Given the description of an element on the screen output the (x, y) to click on. 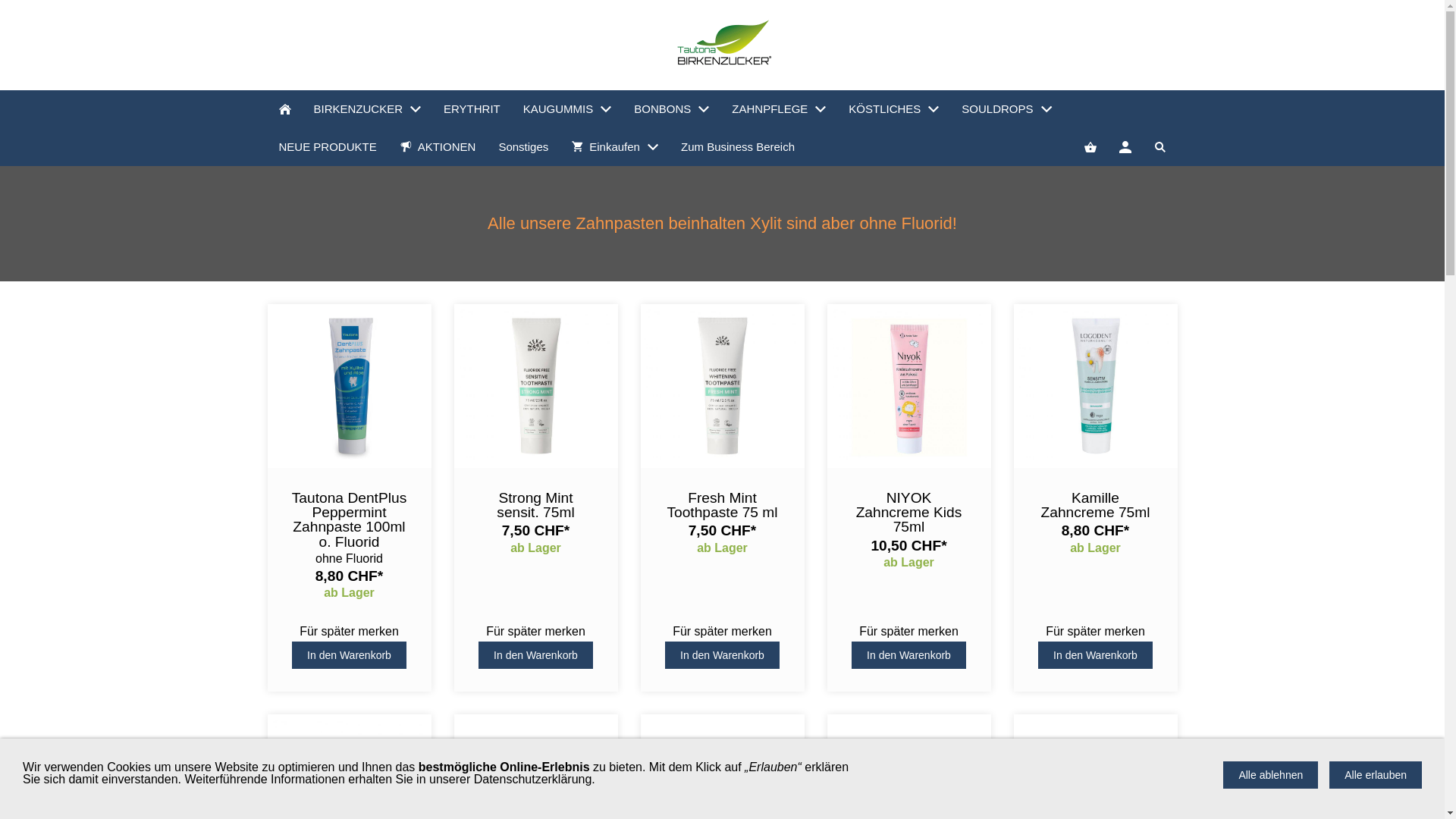
KAUGUMMIS Element type: text (567, 109)
Zum Business Bereich Element type: text (737, 147)
In den Warenkorb Element type: text (348, 654)
AKTIONEN Element type: text (437, 147)
Einkaufen Element type: text (614, 147)
NIYOK Zahncreme Kids 75ml Element type: text (908, 512)
In den Warenkorb Element type: text (535, 654)
NEUE PRODUKTE Element type: text (326, 147)
Alle ablehnen Element type: text (1270, 774)
Sonstiges Element type: text (522, 147)
Strong Mint sensit. 75ml Element type: text (535, 504)
Alle erlauben Element type: text (1375, 774)
BONBONS Element type: text (671, 109)
SOULDROPS Element type: text (1006, 109)
BIRKENZUCKER Element type: text (366, 109)
In den Warenkorb Element type: text (1095, 654)
Tautona DentPlus Peppermint Zahnpaste 100ml o. Fluorid Element type: text (348, 519)
Fresh Mint Toothpaste 75 ml Element type: text (721, 504)
ZAHNPFLEGE Element type: text (778, 109)
In den Warenkorb Element type: text (722, 654)
In den Warenkorb Element type: text (908, 654)
Kamille Zahncreme 75ml Element type: text (1094, 504)
ERYTHRIT Element type: text (471, 109)
